Given the description of an element on the screen output the (x, y) to click on. 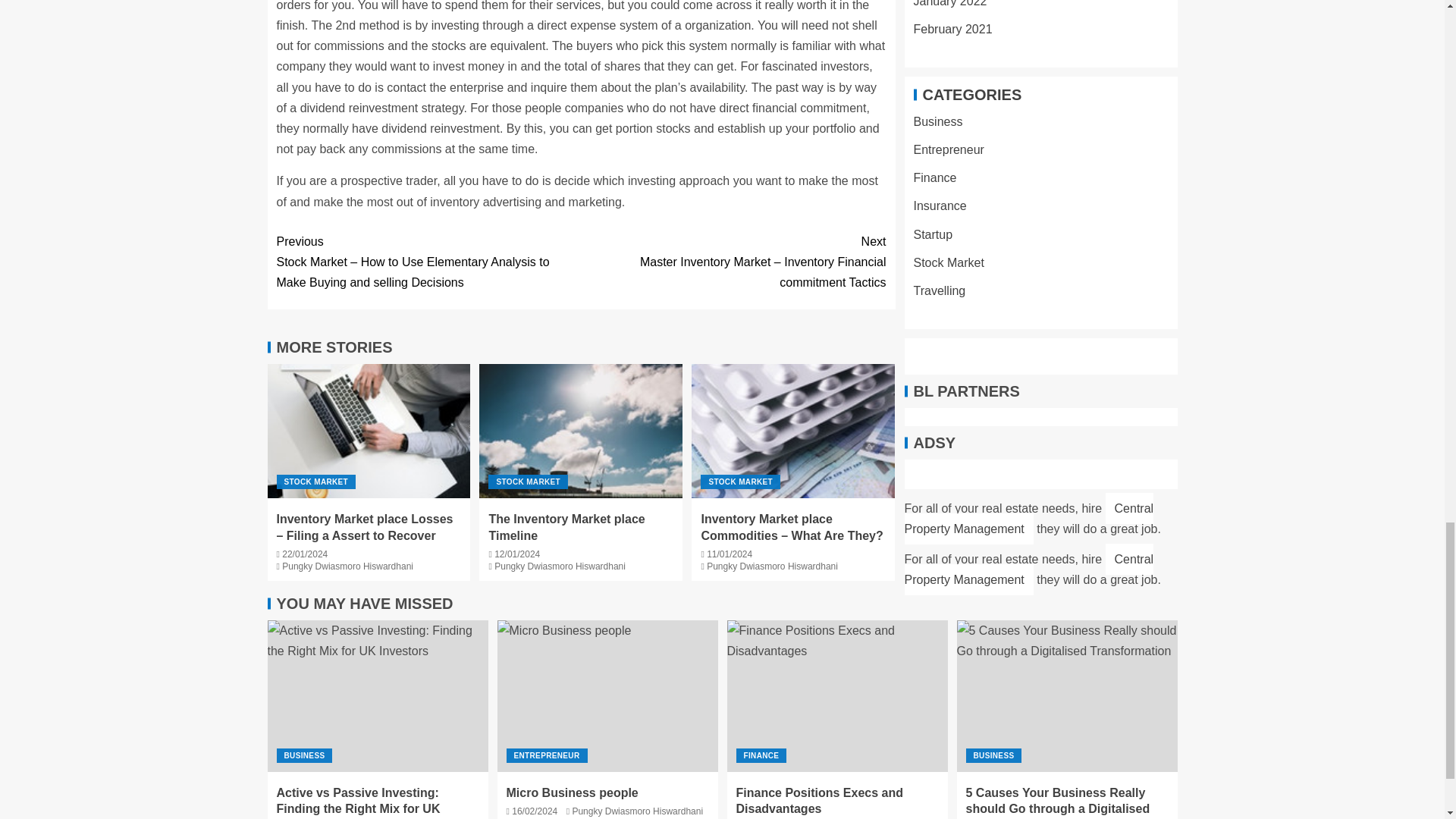
STOCK MARKET (527, 481)
STOCK MARKET (315, 481)
STOCK MARKET (740, 481)
Pungky Dwiasmoro Hiswardhani (347, 566)
Pungky Dwiasmoro Hiswardhani (560, 566)
Pungky Dwiasmoro Hiswardhani (772, 566)
The Inventory Market place Timeline (566, 526)
